Given the description of an element on the screen output the (x, y) to click on. 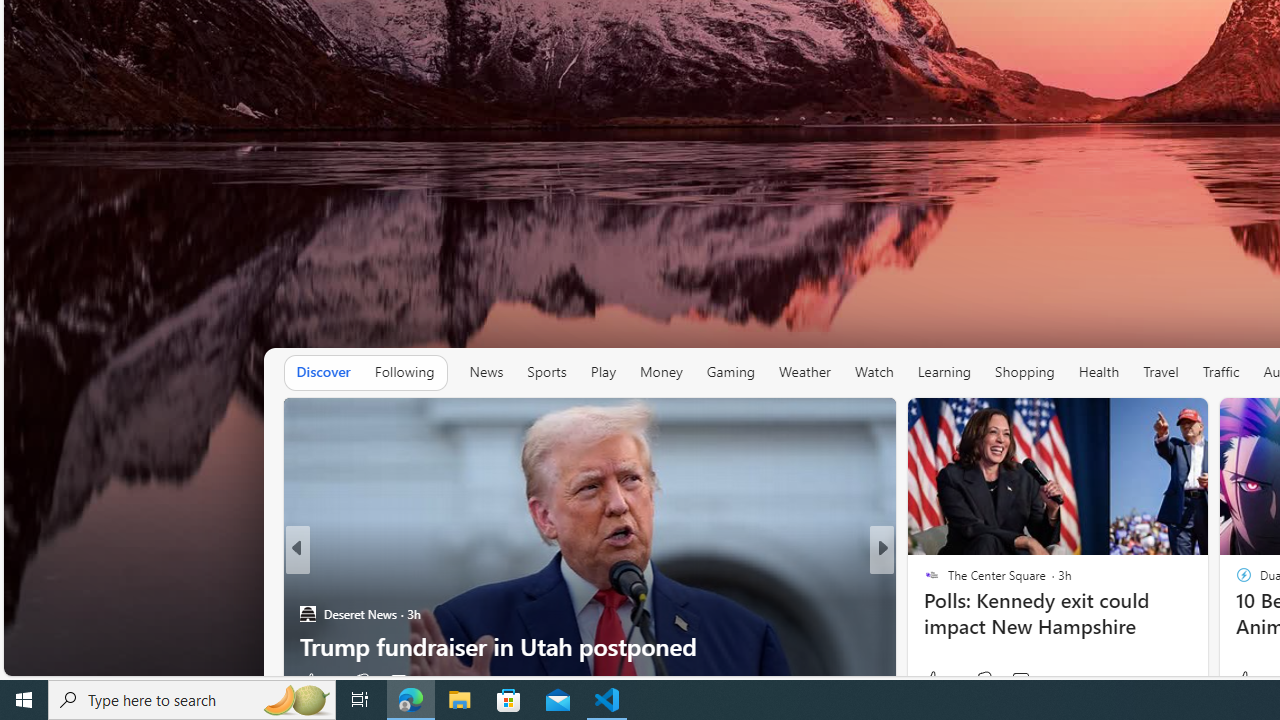
Reader's Digest (923, 581)
220 Like (936, 681)
13 Beautiful Muscle Cars Most People Probably Never Heard Of (589, 629)
63 Like (934, 681)
TheStreet (923, 581)
View comments 29 Comment (1014, 681)
Wealth of Geeks (307, 581)
View comments 25 Comment (1021, 681)
